Given the description of an element on the screen output the (x, y) to click on. 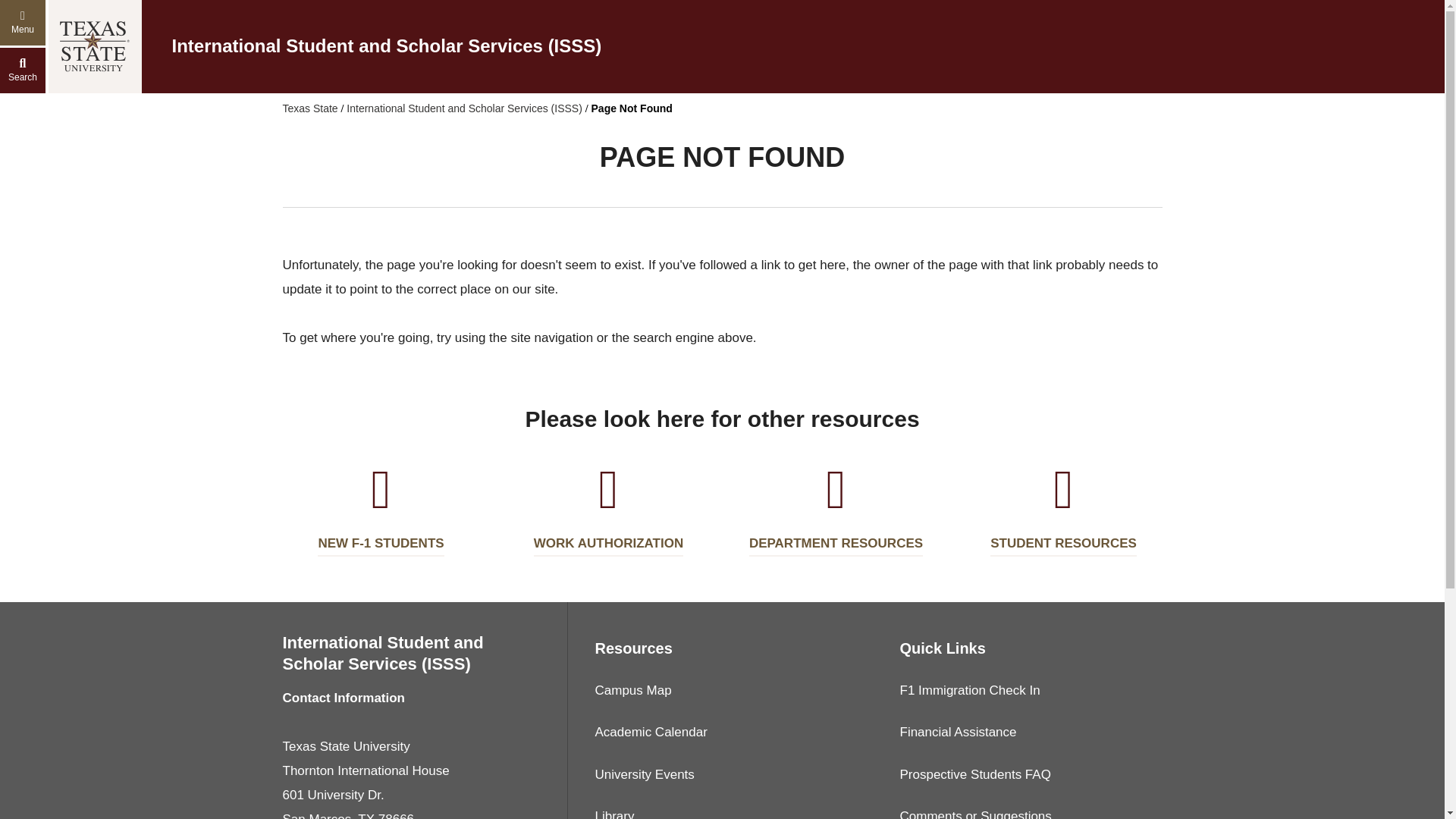
Texas State (309, 107)
NEW F-1 STUDENTS (380, 508)
Search (22, 70)
STUDENT RESOURCES (1062, 508)
DEPARTMENT RESOURCES (835, 508)
WORK AUTHORIZATION (607, 508)
